Given the description of an element on the screen output the (x, y) to click on. 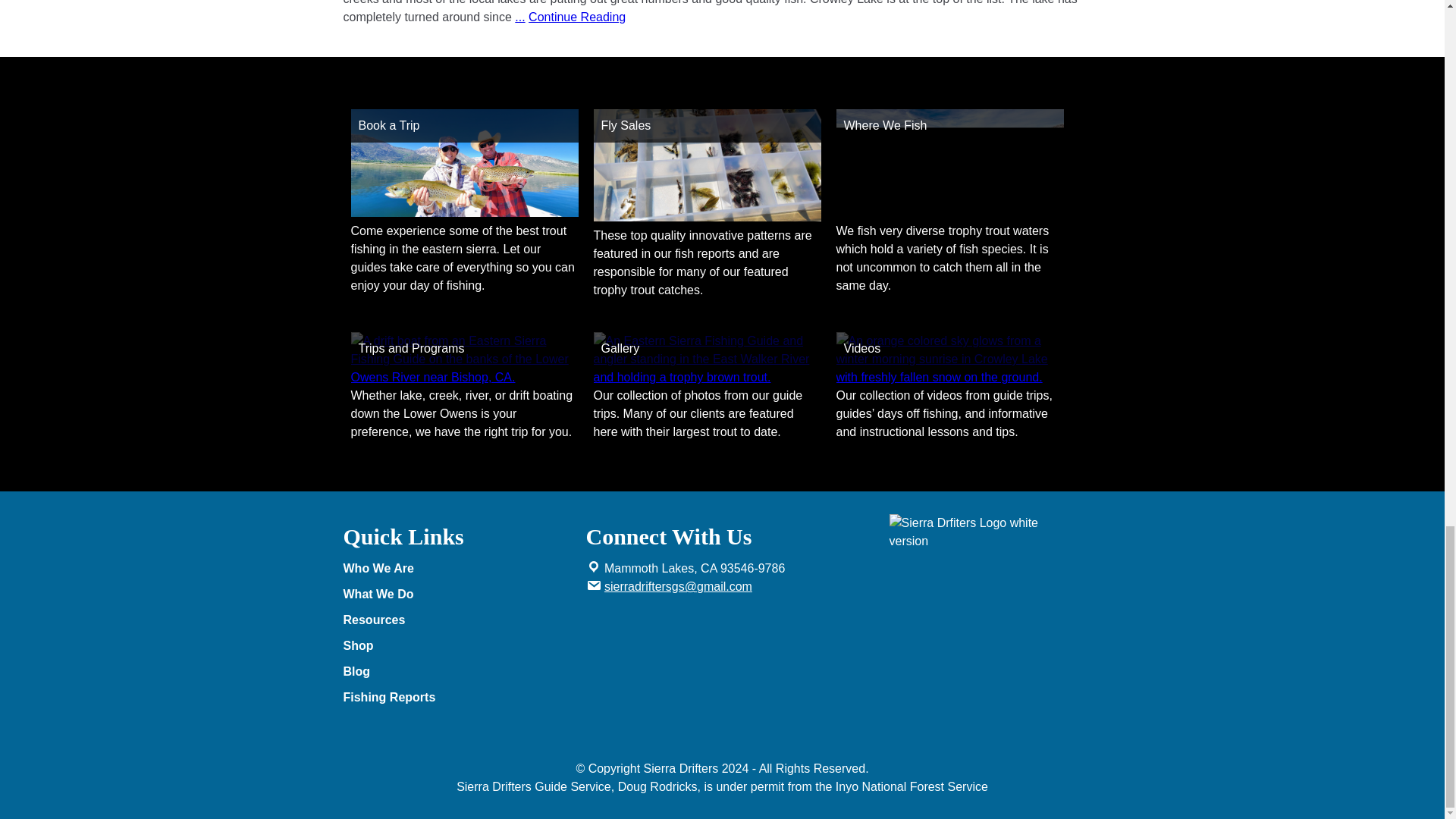
Shop (456, 646)
Trips and programs we offer to our fly fishing customers (464, 377)
Blog (456, 671)
What We Do (456, 594)
Who We Are (456, 568)
Fishing Reports (463, 697)
Resources (456, 619)
